Given the description of an element on the screen output the (x, y) to click on. 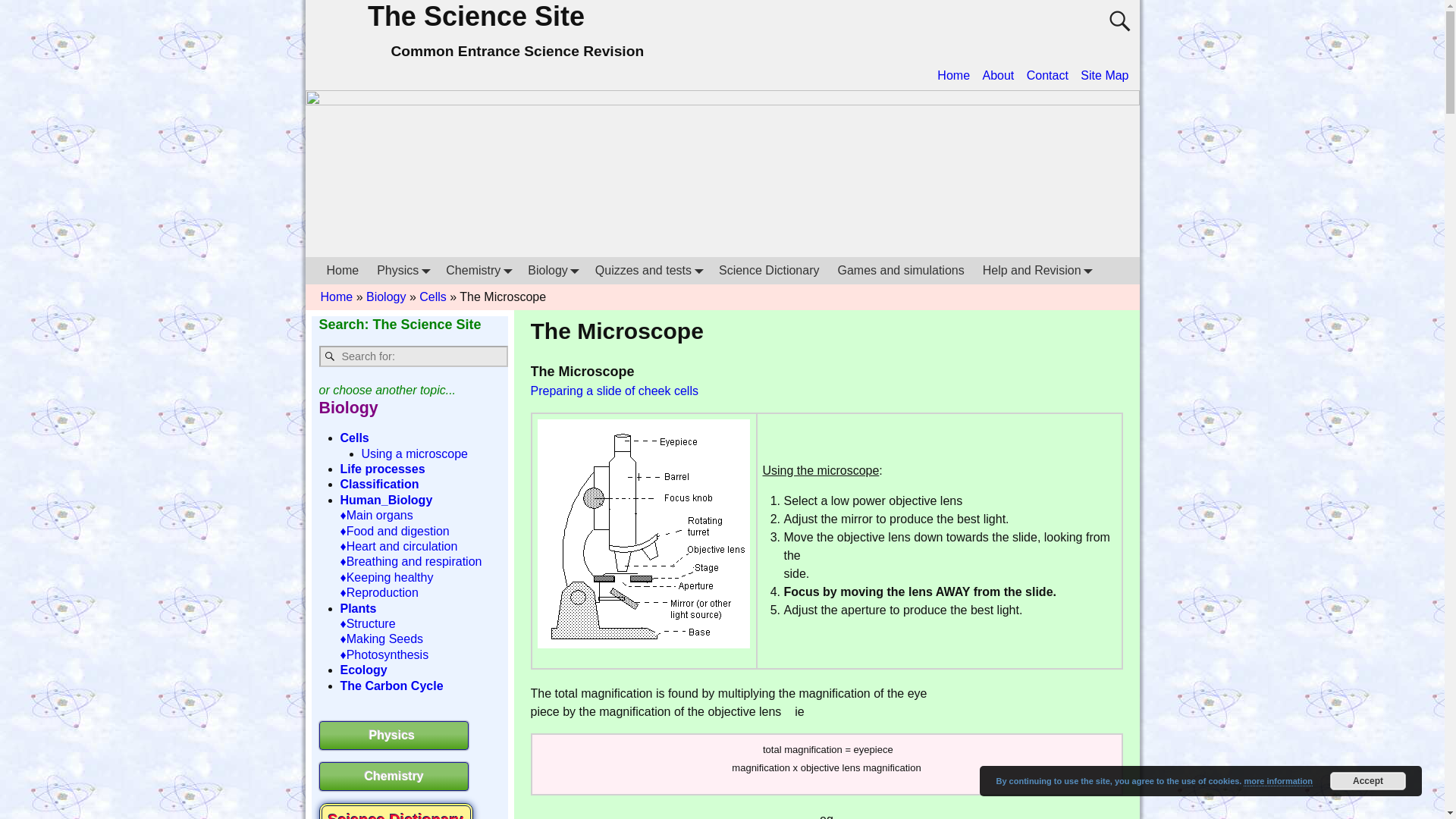
Contact (1047, 74)
Biology (551, 270)
The Science Site (476, 15)
About (998, 74)
Chemistry (477, 270)
The ScienceSite: Science Revision (342, 270)
Site Map (1104, 74)
Home (953, 74)
Physics (402, 270)
Home (342, 270)
The Science Site (476, 15)
Science Dictionary (769, 270)
